Given the description of an element on the screen output the (x, y) to click on. 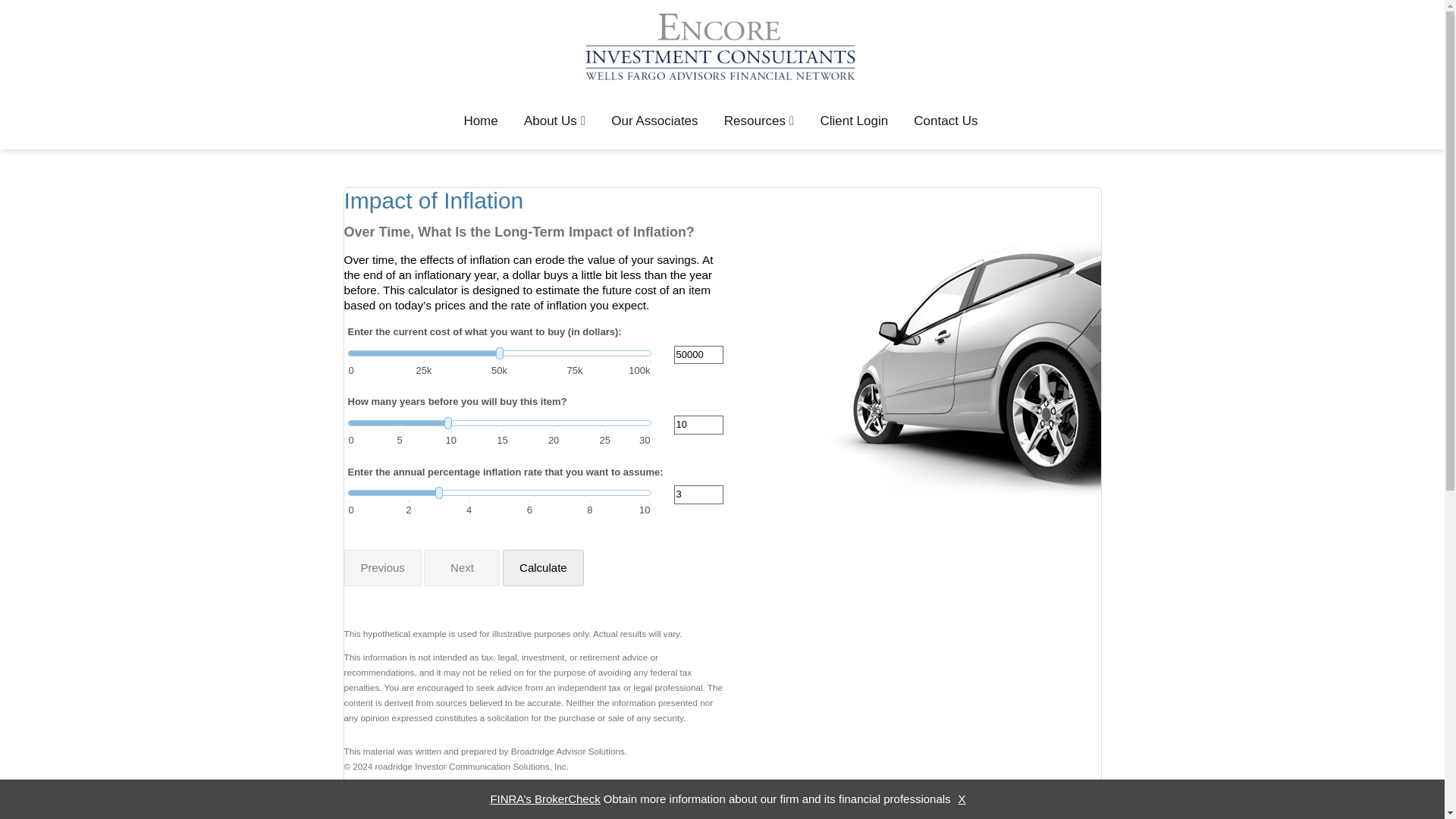
50000 (697, 354)
Previous (382, 567)
10 (697, 424)
50000 (499, 369)
20 (553, 438)
4 (469, 508)
75000 (574, 369)
Client Login (853, 122)
3 (697, 494)
25 (604, 438)
2 (408, 508)
0 (363, 508)
15 (502, 438)
8 (589, 508)
0 (361, 438)
